Given the description of an element on the screen output the (x, y) to click on. 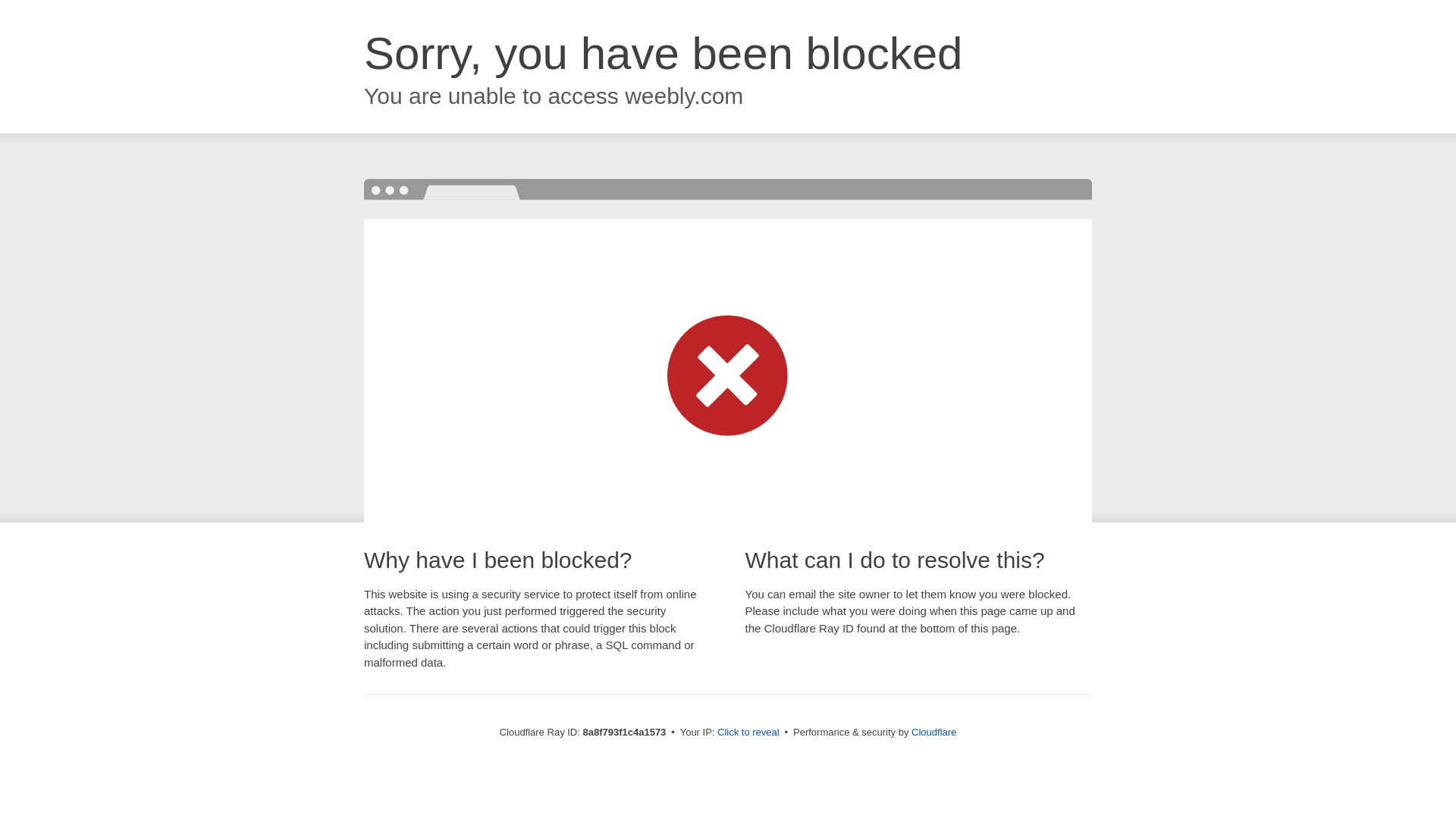
Cloudflare (933, 731)
Click to reveal (747, 732)
